Given the description of an element on the screen output the (x, y) to click on. 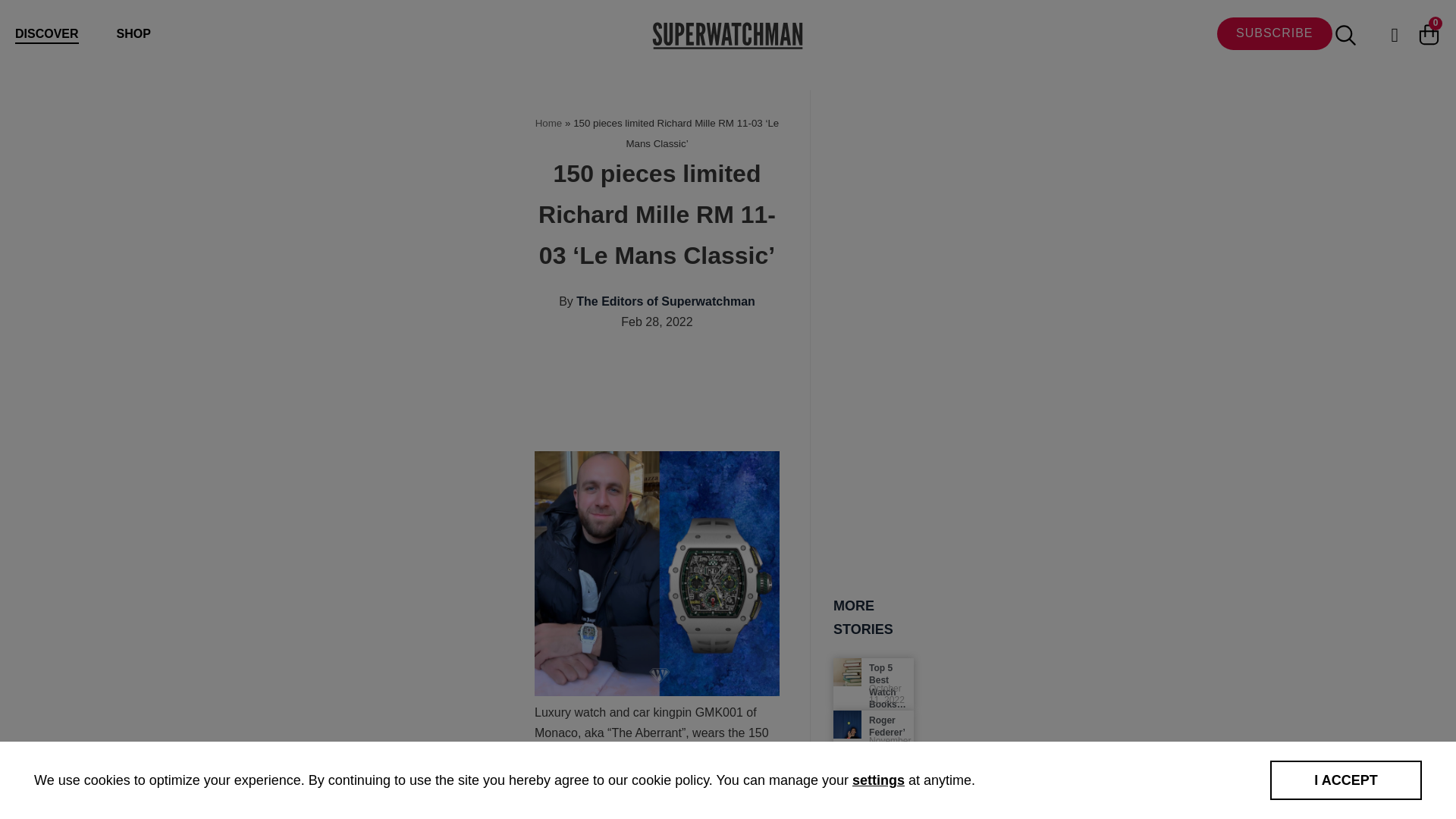
SHOP (133, 33)
Home (548, 122)
Advertisement (810, 398)
The Editors of Superwatchman (665, 300)
Skip to content (15, 31)
SUBSCRIBE (1274, 33)
DISCOVER (46, 35)
